Given the description of an element on the screen output the (x, y) to click on. 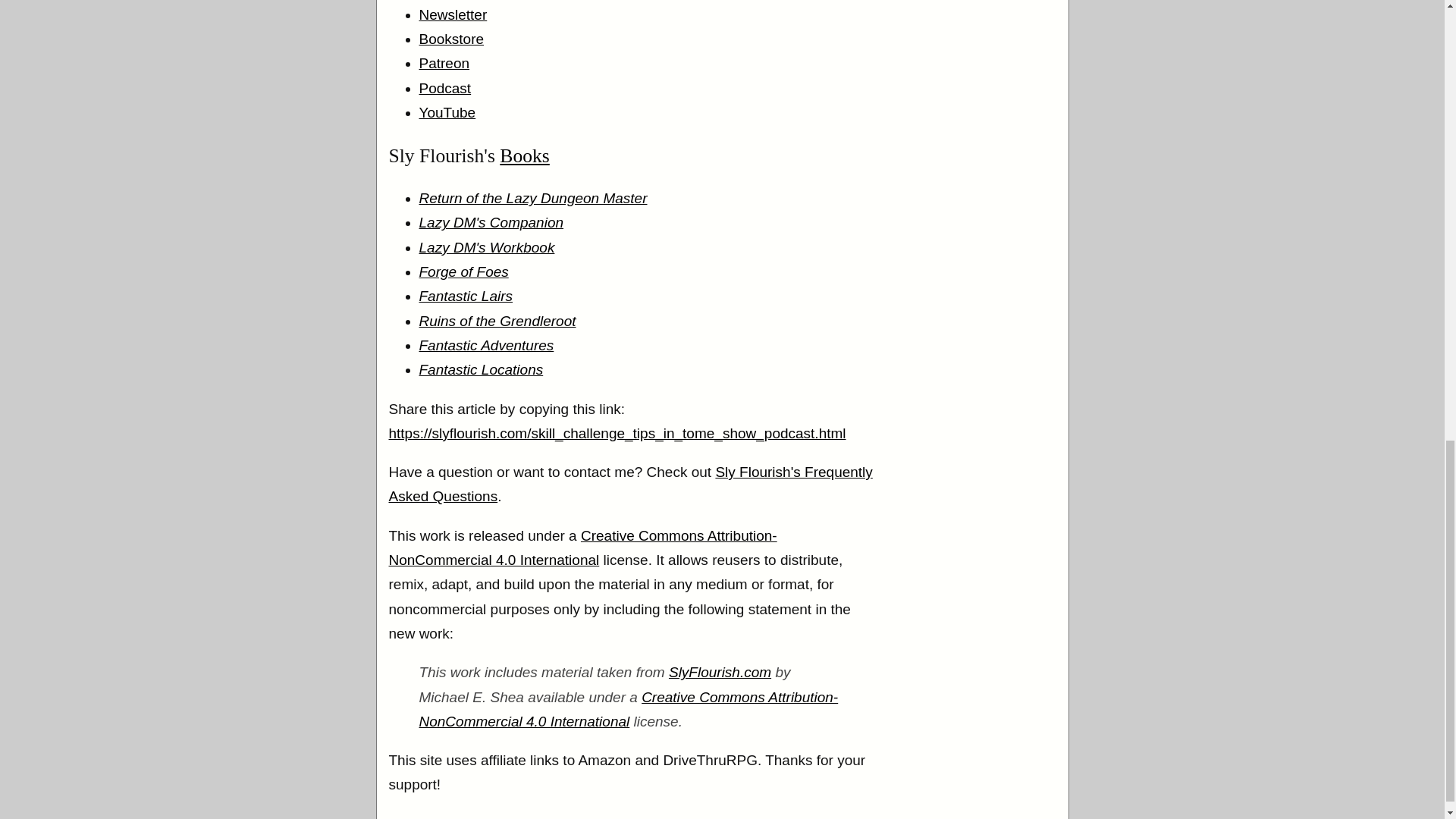
SlyFlourish.com (719, 672)
Forge of Foes (463, 271)
Return of the Lazy Dungeon Master (532, 198)
Patreon (443, 63)
YouTube (447, 112)
Podcast (444, 88)
Books (523, 155)
Creative Commons Attribution-NonCommercial 4.0 International (628, 709)
Bookstore (451, 38)
Creative Commons Attribution-NonCommercial 4.0 International (582, 547)
Lazy DM's Workbook (486, 247)
Fantastic Adventures (486, 344)
Fantastic Lairs (465, 295)
Fantastic Locations (481, 369)
Newsletter (452, 14)
